Given the description of an element on the screen output the (x, y) to click on. 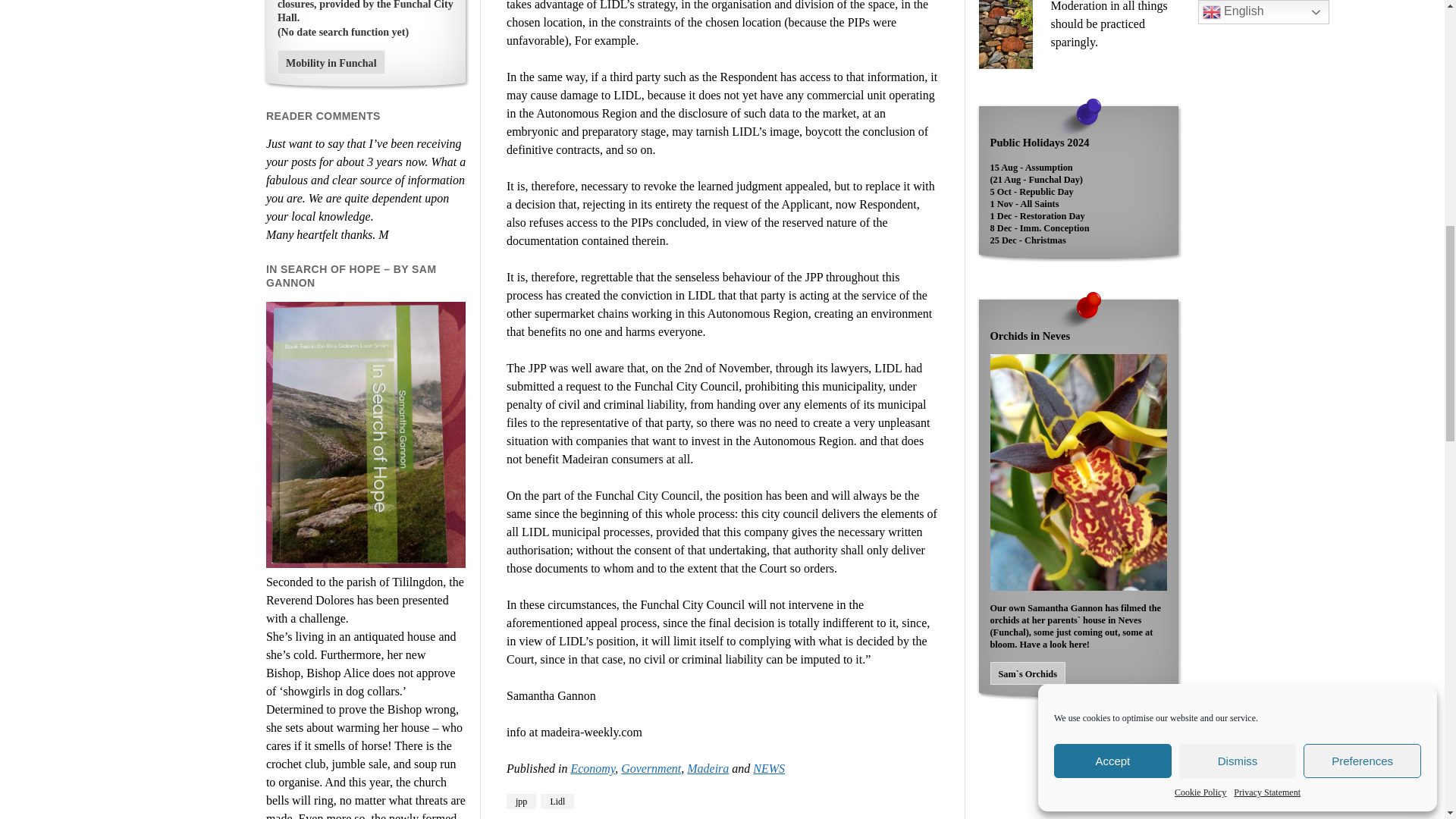
Madeira (708, 768)
View all posts tagged Lidl (556, 801)
View all posts in NEWS (768, 768)
View all posts tagged jpp (520, 801)
Mobility in Funchal (331, 61)
NEWS (768, 768)
Government (651, 768)
Economy (592, 768)
View all posts in Government (651, 768)
jpp (520, 801)
